Given the description of an element on the screen output the (x, y) to click on. 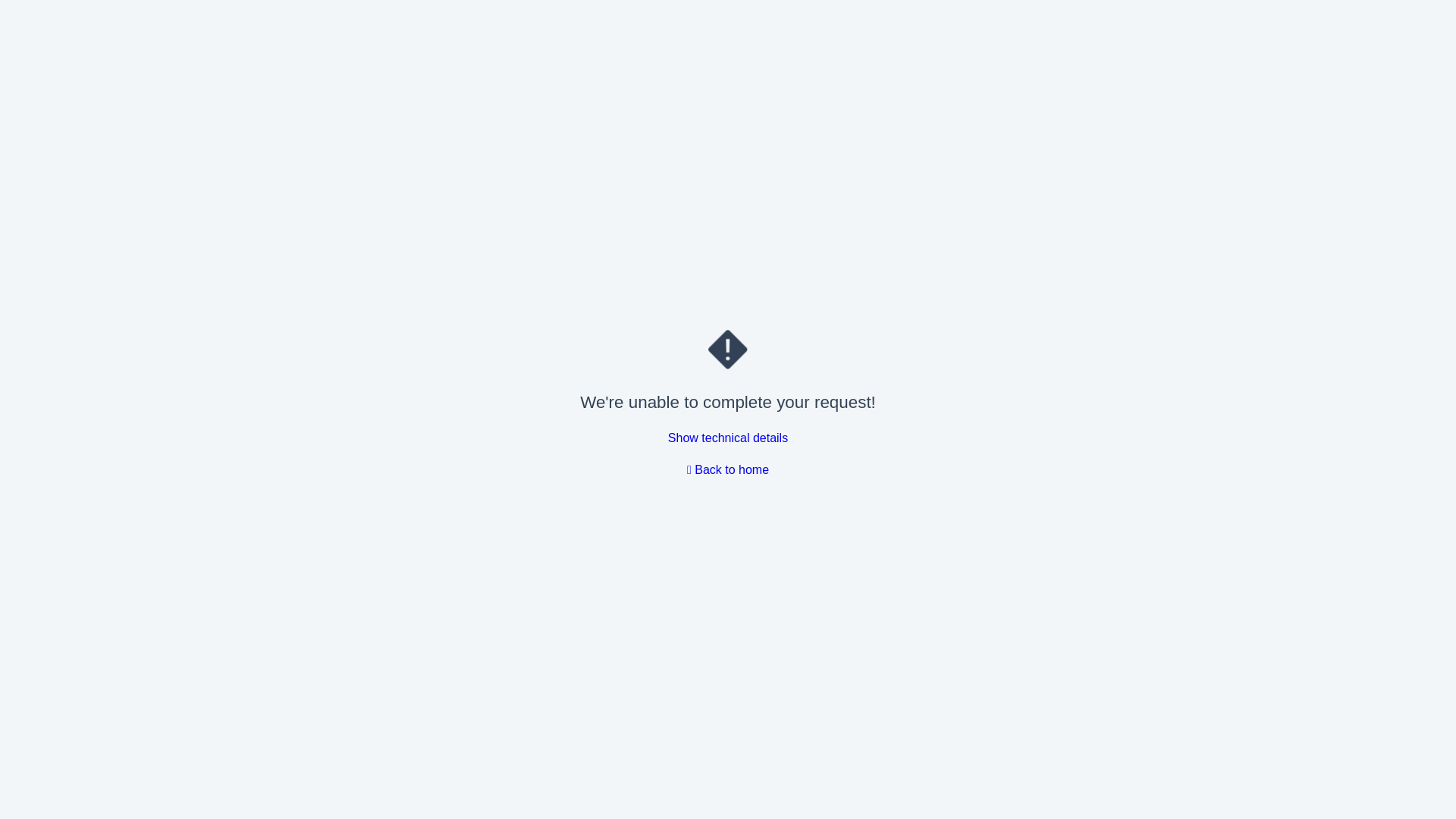
Show technical details Element type: text (727, 438)
